Given the description of an element on the screen output the (x, y) to click on. 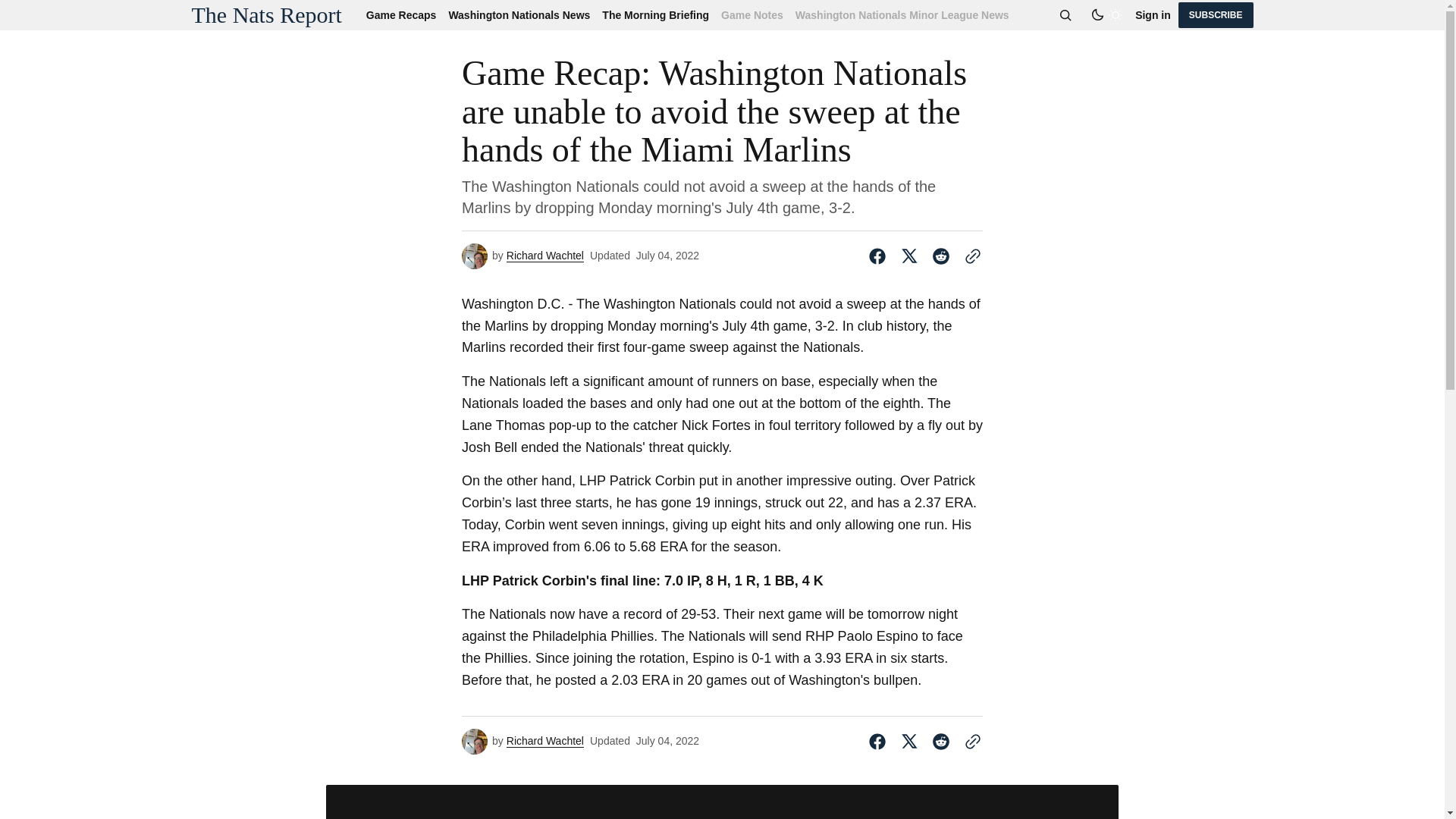
The Nats Report (265, 15)
Washington Nationals Minor League News (899, 15)
SUBSCRIBE (1215, 14)
Game Notes (751, 15)
The Morning Briefing (654, 15)
Sign in (1152, 14)
Washington Nationals News (518, 15)
Game Recaps (404, 15)
Search button (1064, 15)
